Given the description of an element on the screen output the (x, y) to click on. 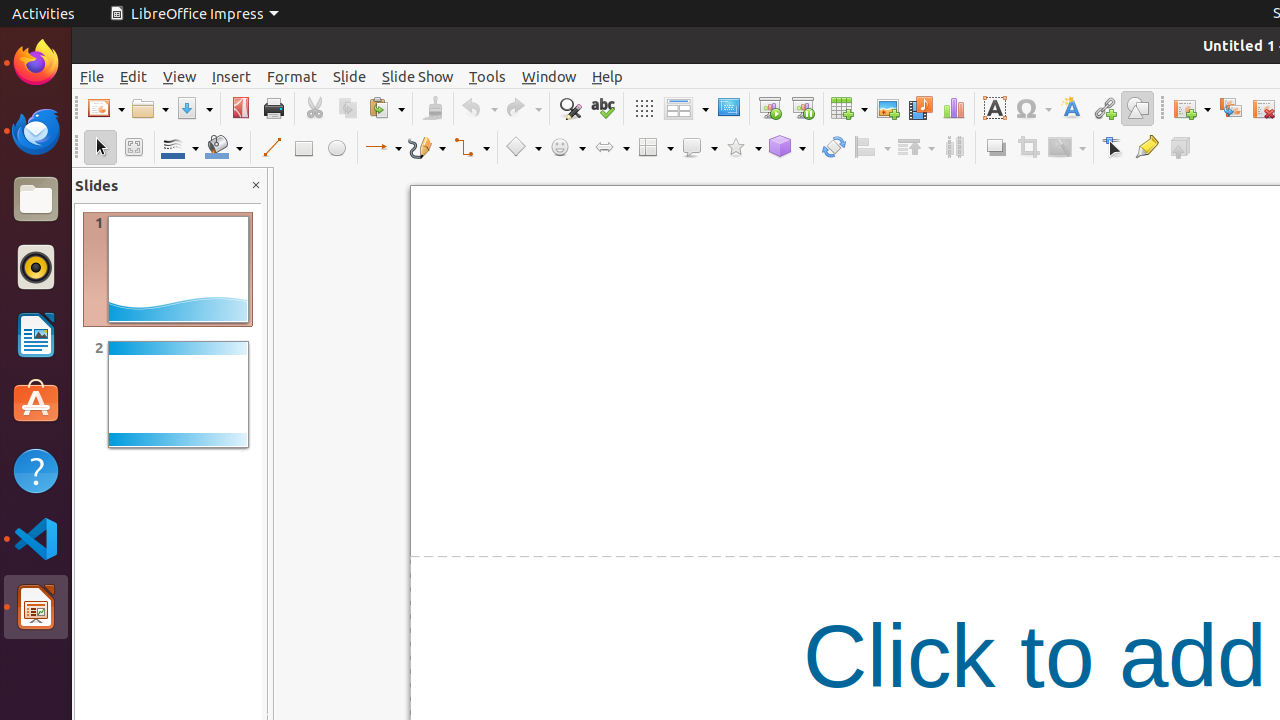
Window Element type: menu (549, 76)
Arrange Element type: push-button (916, 147)
Symbol Shapes Element type: push-button (567, 147)
Redo Element type: push-button (523, 108)
Edit Element type: menu (133, 76)
